Given the description of an element on the screen output the (x, y) to click on. 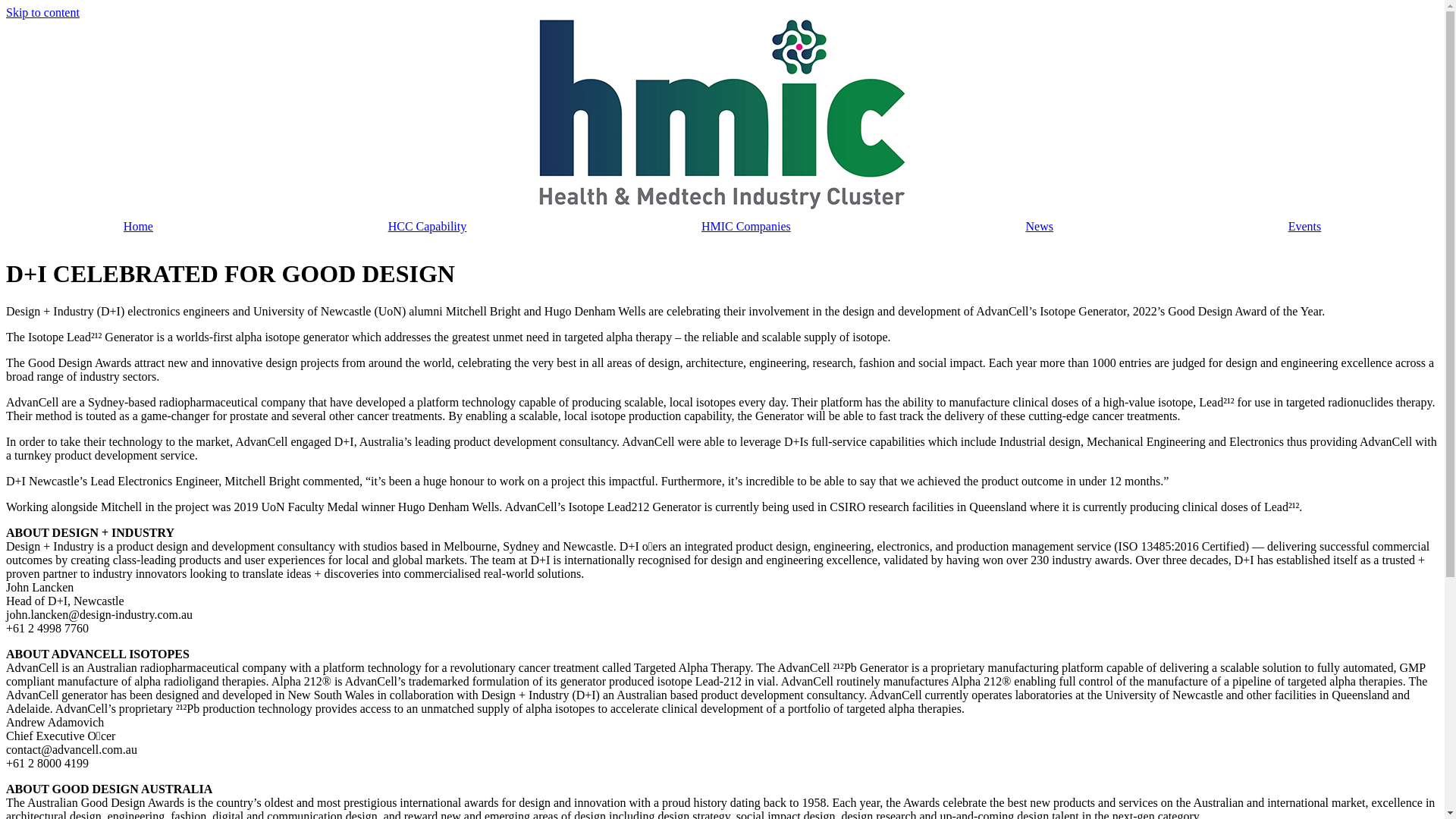
HMIC Companies Element type: text (745, 226)
Skip to content Element type: text (42, 12)
Events Element type: text (1304, 226)
HCC Capability Element type: text (426, 226)
News Element type: text (1039, 226)
Home Element type: text (138, 226)
